Given the description of an element on the screen output the (x, y) to click on. 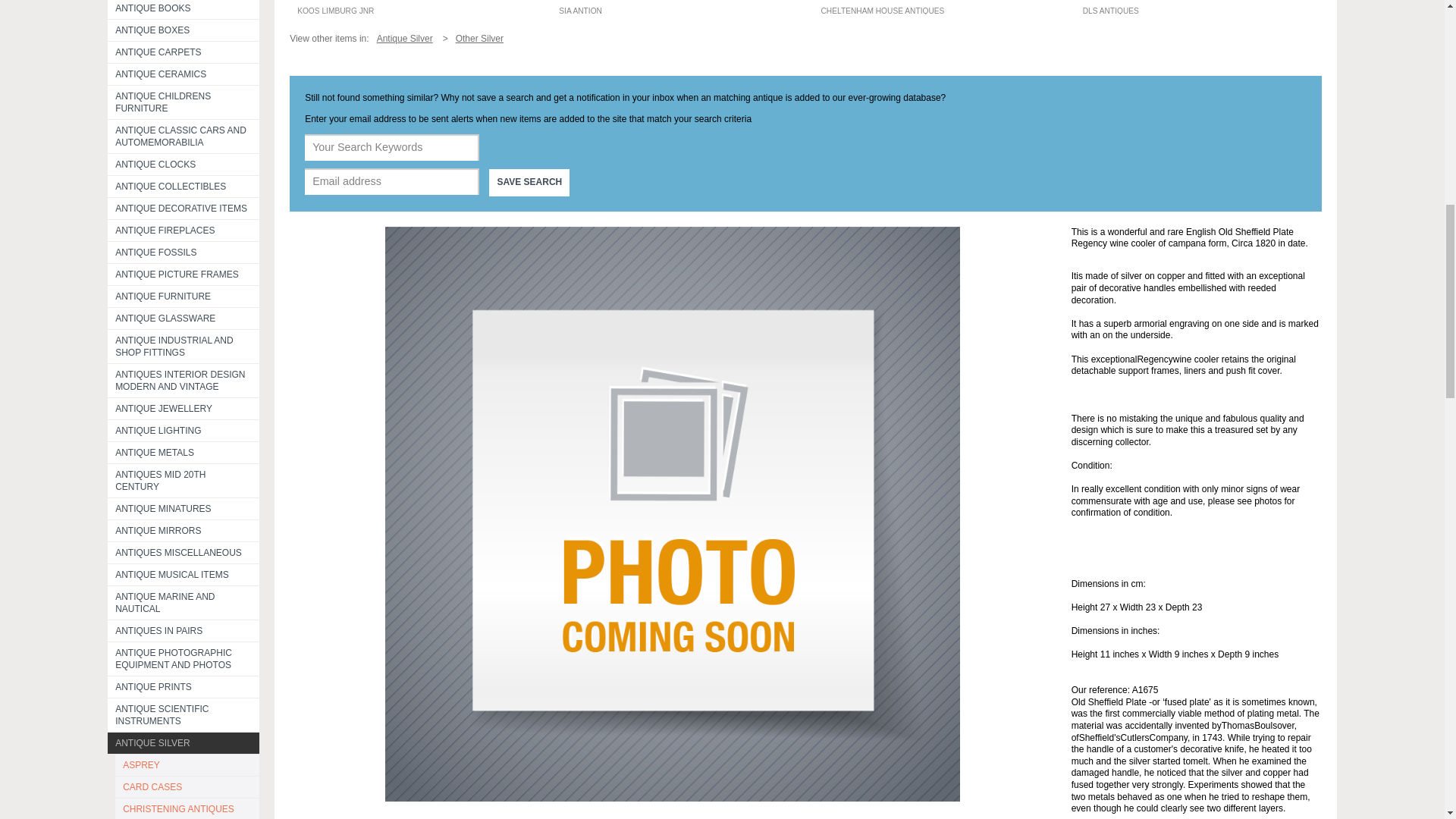
ANTIQUE BOXES (183, 29)
ANTIQUE CERAMICS (183, 74)
ANTIQUE CARPETS (183, 51)
ANTIQUE CHILDRENS FURNITURE (183, 101)
ANTIQUE BOOKS (183, 9)
